Given the description of an element on the screen output the (x, y) to click on. 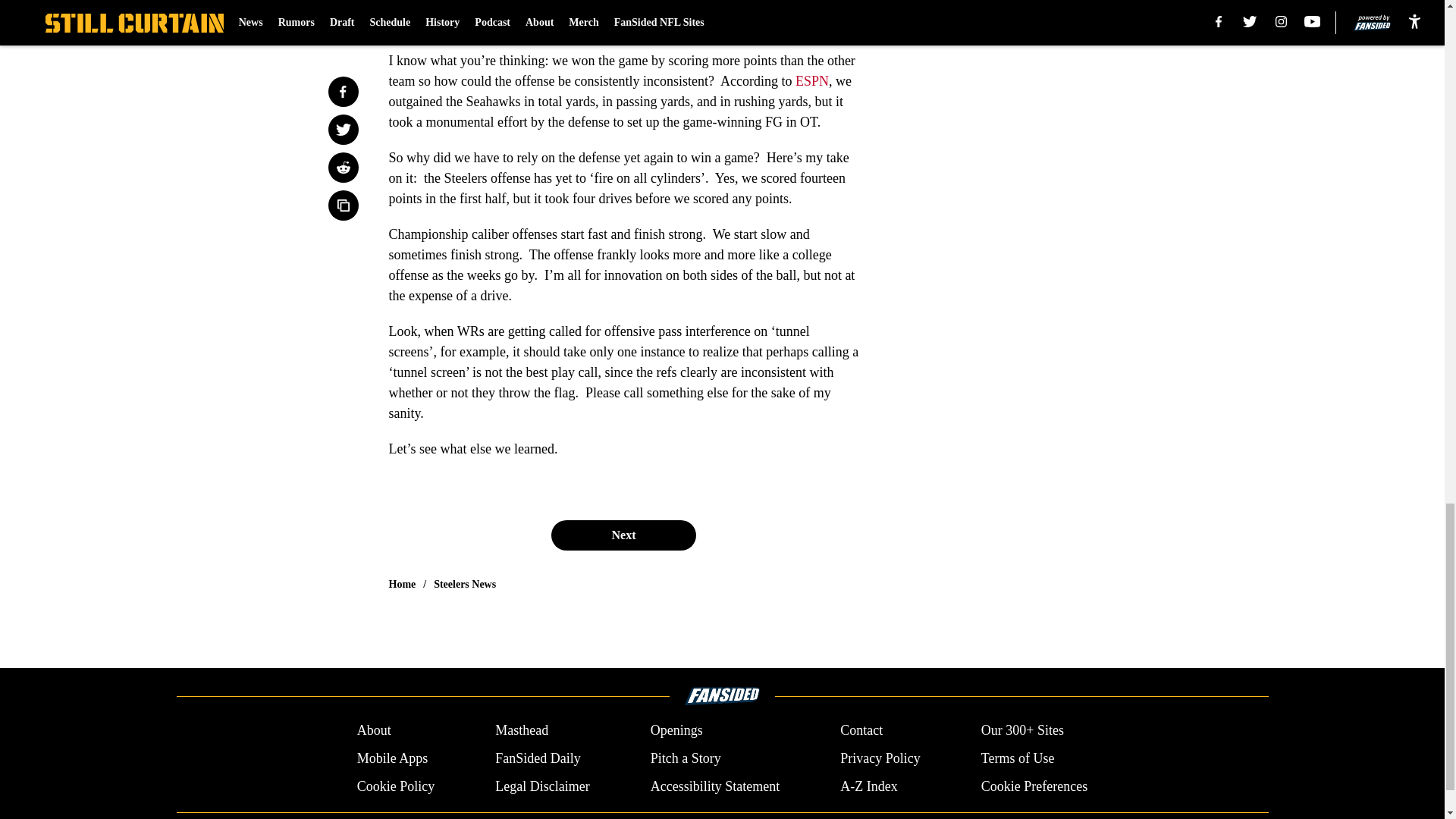
Steelers News (464, 584)
Privacy Policy (880, 758)
Home (401, 584)
FanSided Daily (537, 758)
Masthead (521, 730)
Contact (861, 730)
Next (622, 535)
Mobile Apps (392, 758)
About (373, 730)
ESPN (811, 80)
